Given the description of an element on the screen output the (x, y) to click on. 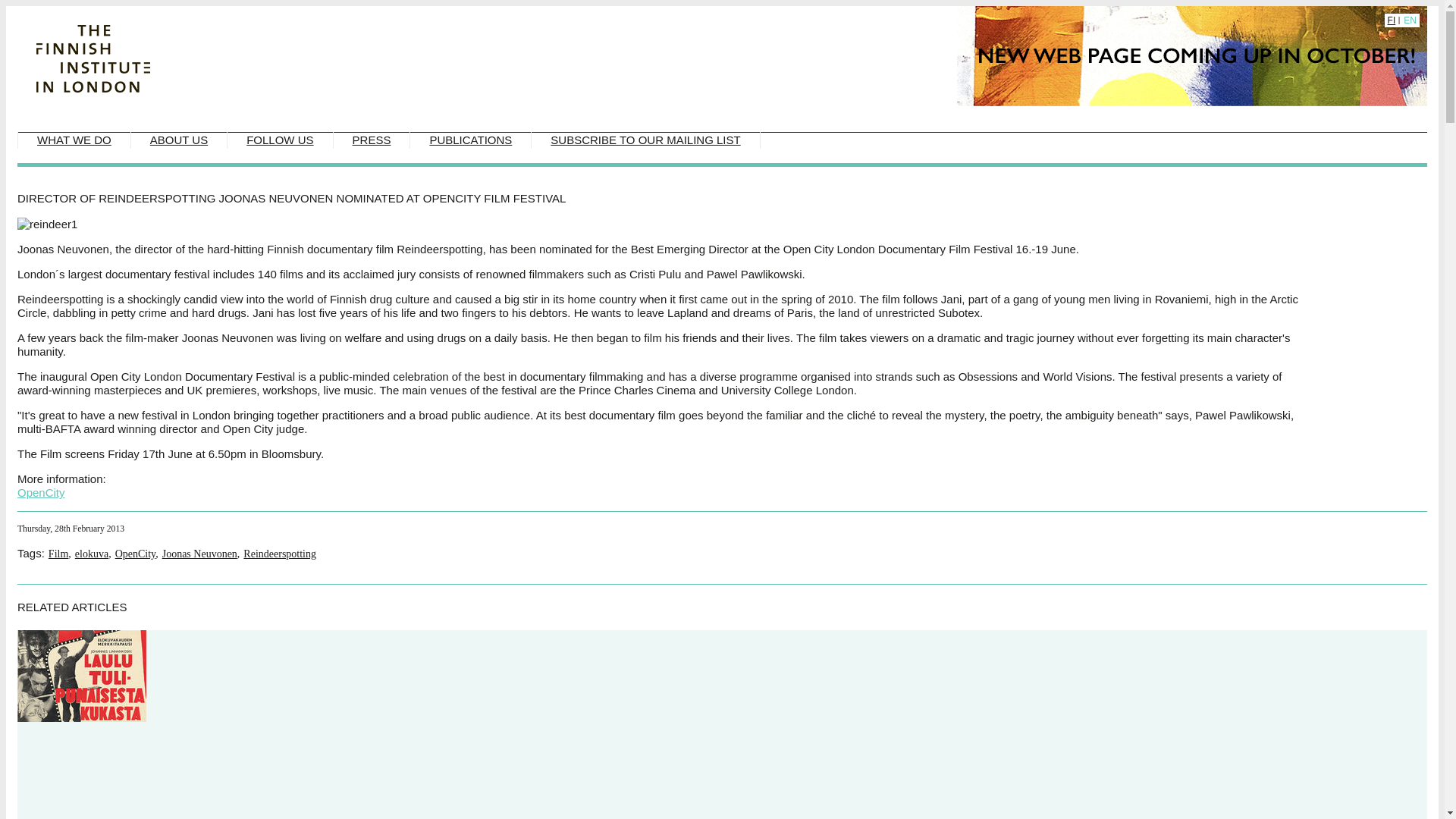
FI (1391, 20)
OpenCity (41, 492)
OpenCity (135, 553)
SUBSCRIBE TO OUR MAILING LIST (645, 139)
Film (58, 553)
Joonas Neuvonen (199, 553)
elokuva (91, 553)
ABOUT US (179, 139)
PUBLICATIONS (470, 139)
FOLLOW US (279, 139)
PRESS (371, 139)
WHAT WE DO (74, 139)
Reindeerspotting (279, 553)
